Given the description of an element on the screen output the (x, y) to click on. 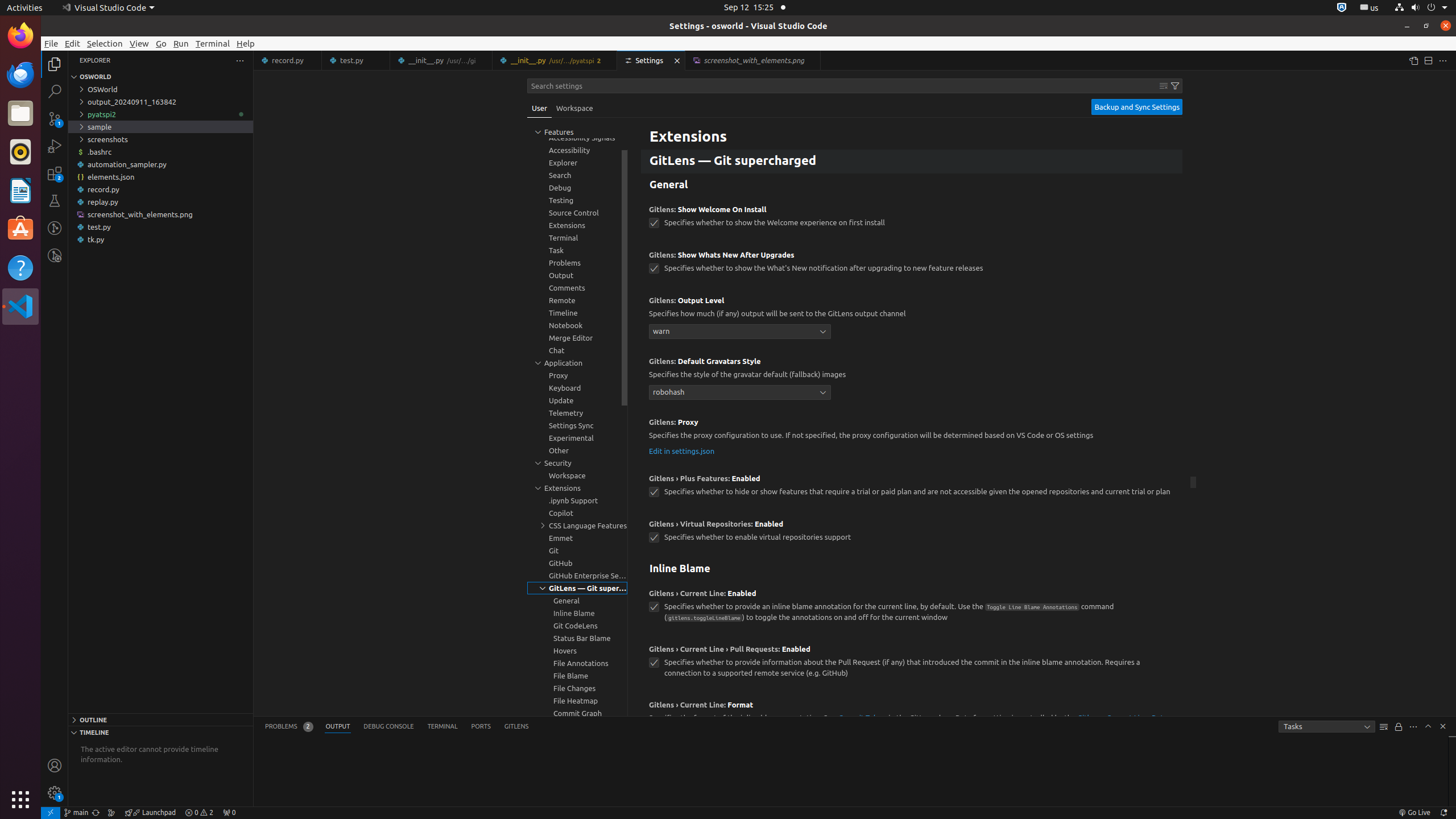
More Actions... Element type: push-button (1442, 60)
OSWorld (Git) - main, Checkout Branch/Tag... Element type: push-button (75, 812)
Edit Element type: push-button (72, 43)
Outline Section Element type: push-button (160, 719)
